Given the description of an element on the screen output the (x, y) to click on. 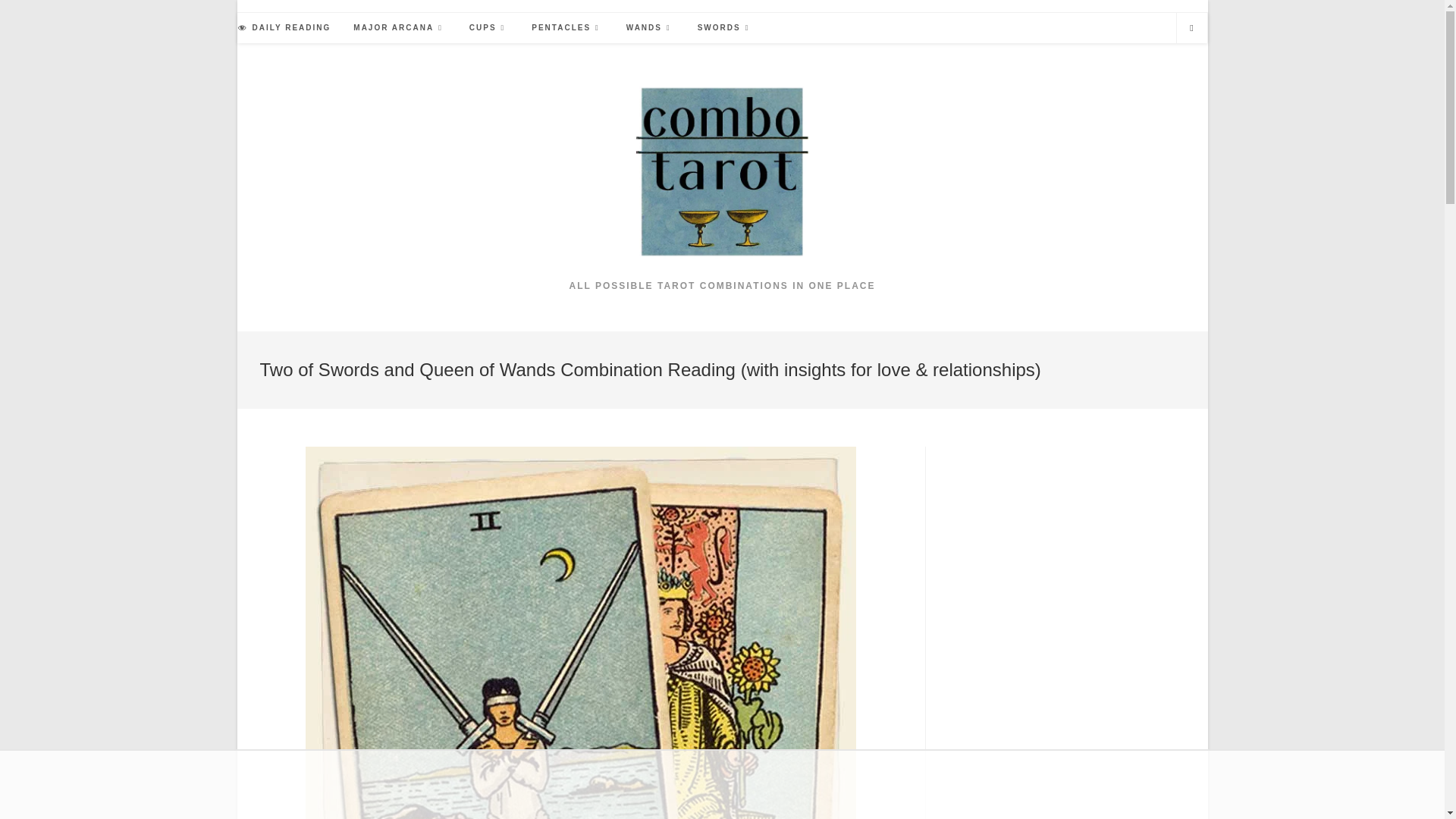
DAILY READING (283, 28)
CUPS (488, 28)
MAJOR ARCANA (400, 28)
